Given the description of an element on the screen output the (x, y) to click on. 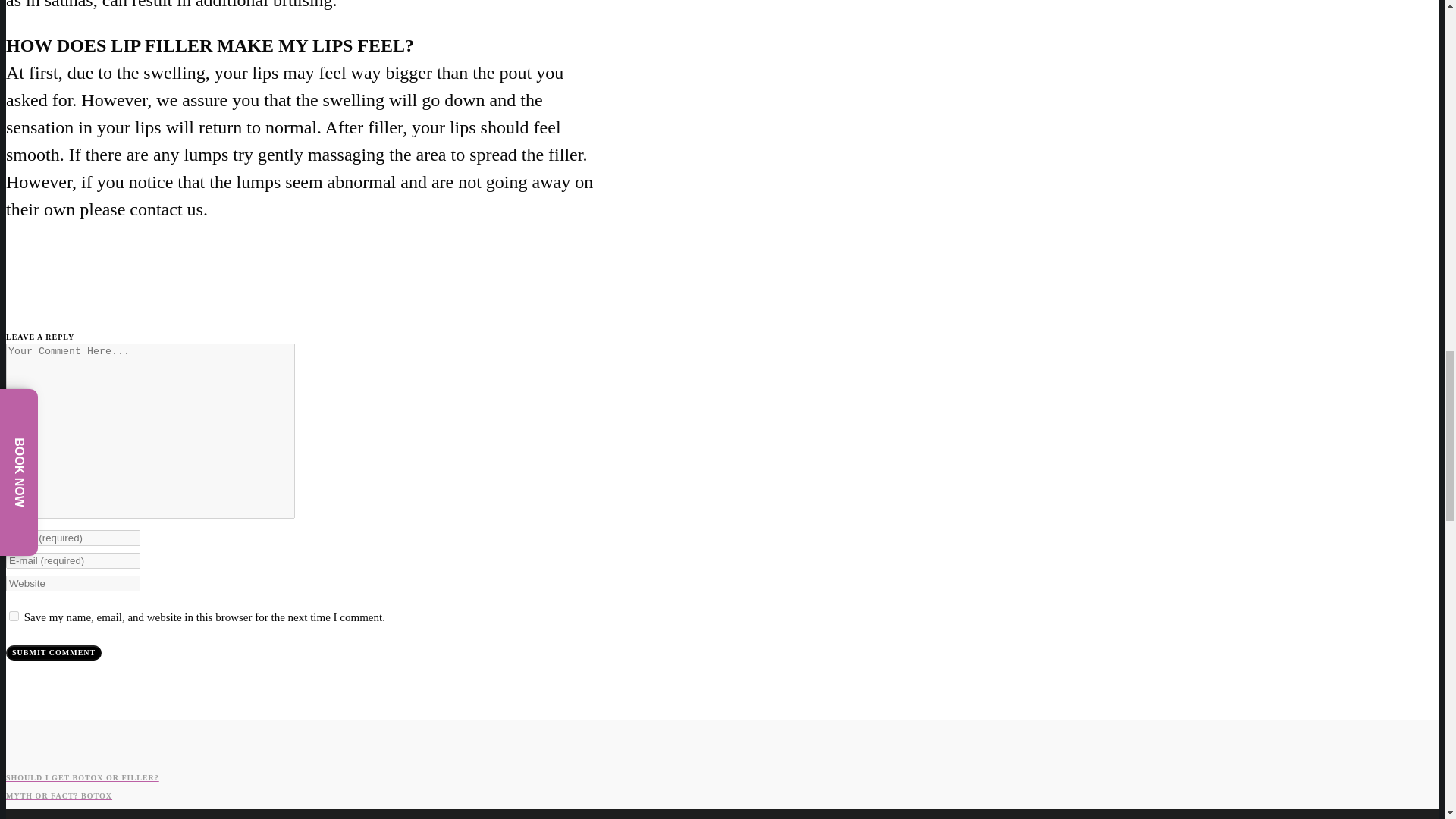
Submit Comment (53, 652)
Submit Comment (53, 652)
yes (13, 615)
